Given the description of an element on the screen output the (x, y) to click on. 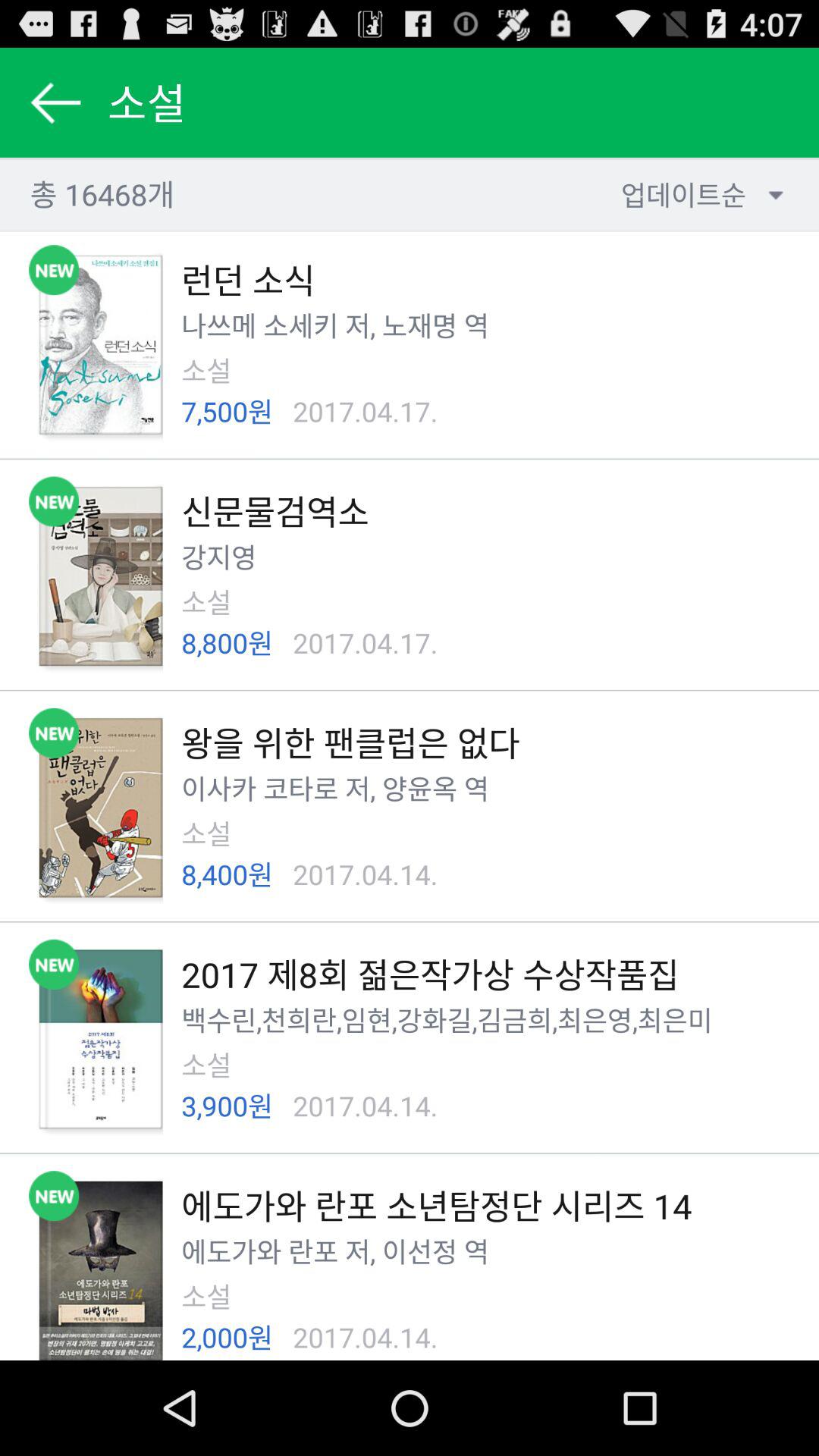
select item next to 2017.04.14. app (227, 1105)
